Given the description of an element on the screen output the (x, y) to click on. 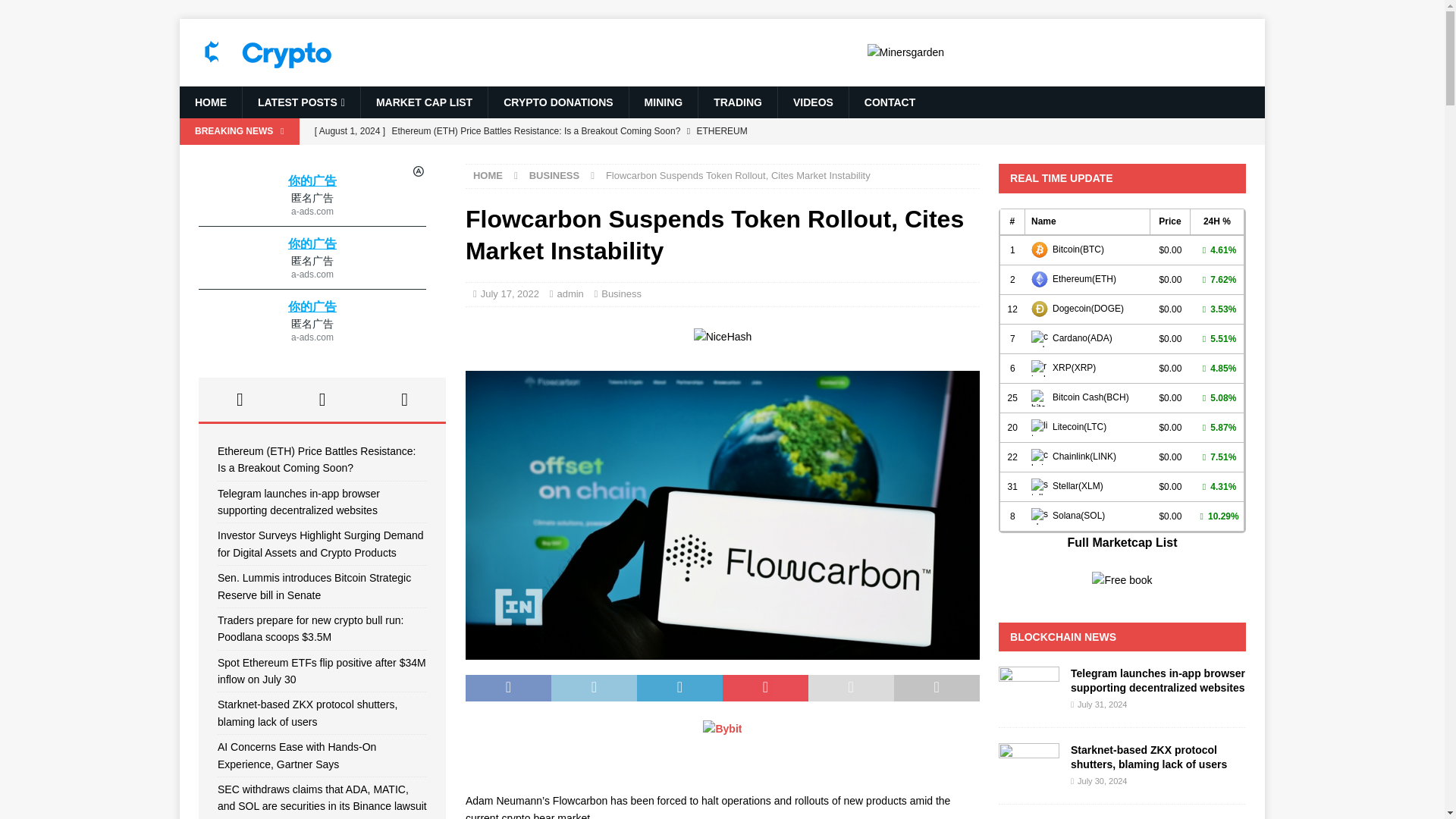
MARKET CAP LIST (423, 101)
HOME (487, 174)
CRYPTO DONATIONS (557, 101)
BUSINESS (554, 174)
July 17, 2022 (509, 293)
HOME (210, 101)
VIDEOS (812, 101)
CONTACT (889, 101)
Business (621, 293)
